Given the description of an element on the screen output the (x, y) to click on. 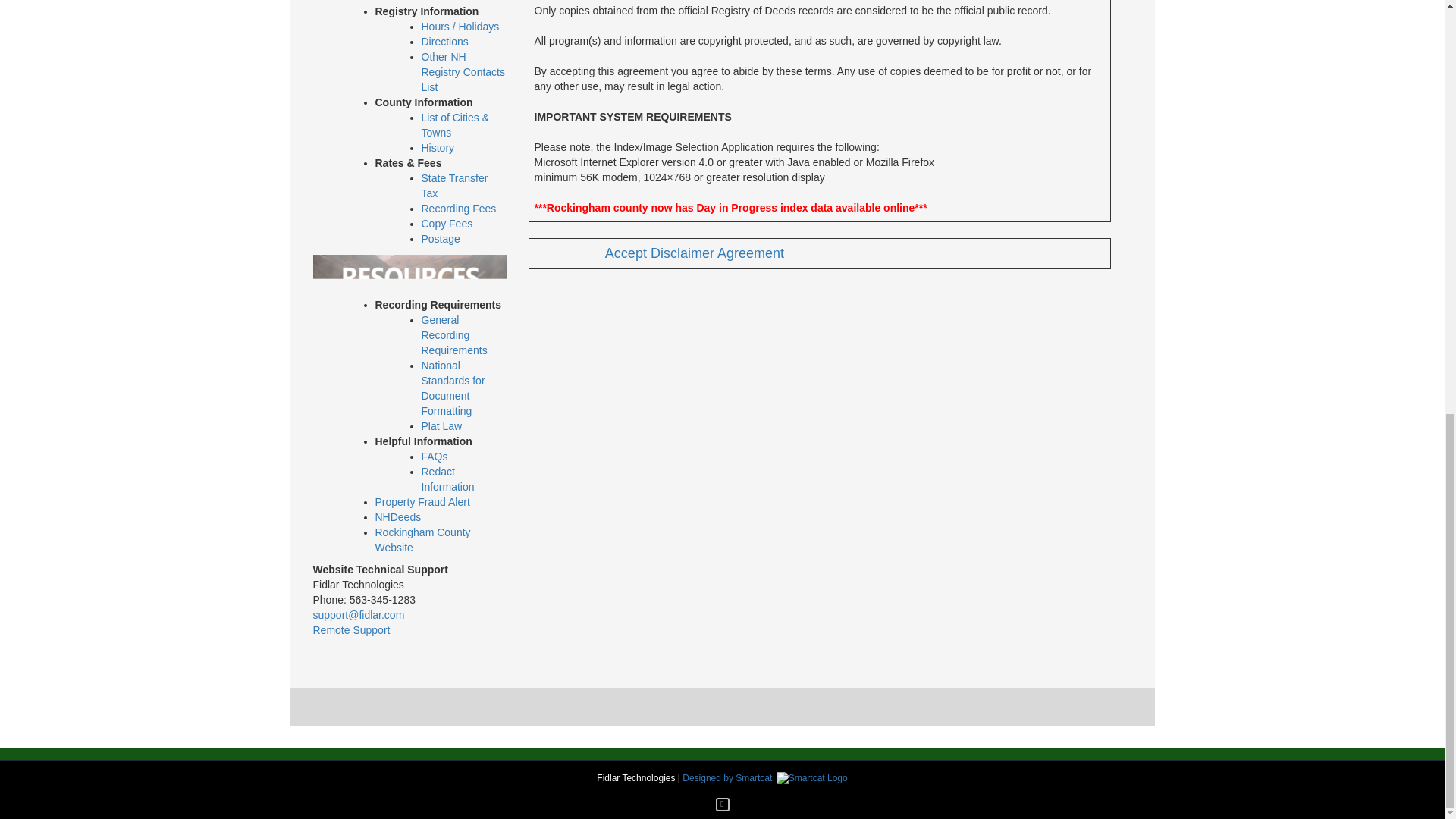
Account Information (448, 1)
National Standards for Document Formatting (453, 387)
Designed by Smartcat (764, 777)
Other NH Registry Contacts List (463, 71)
State Transfer Tax (454, 185)
Rockingham County Website (422, 539)
NHDeeds (397, 517)
History (438, 147)
General Recording Requirements (454, 334)
Directions (445, 41)
